Given the description of an element on the screen output the (x, y) to click on. 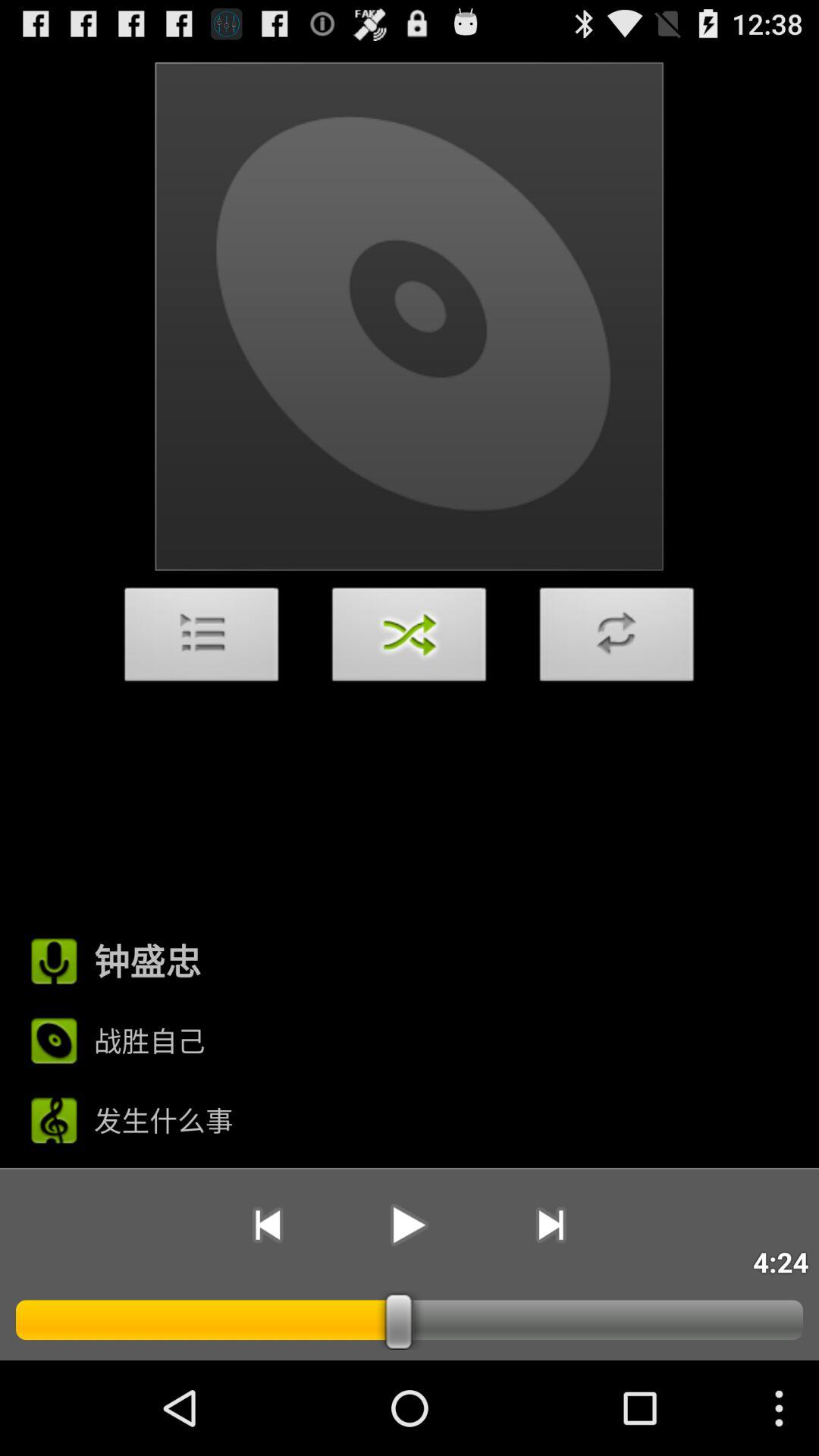
choose item on the right (616, 638)
